Given the description of an element on the screen output the (x, y) to click on. 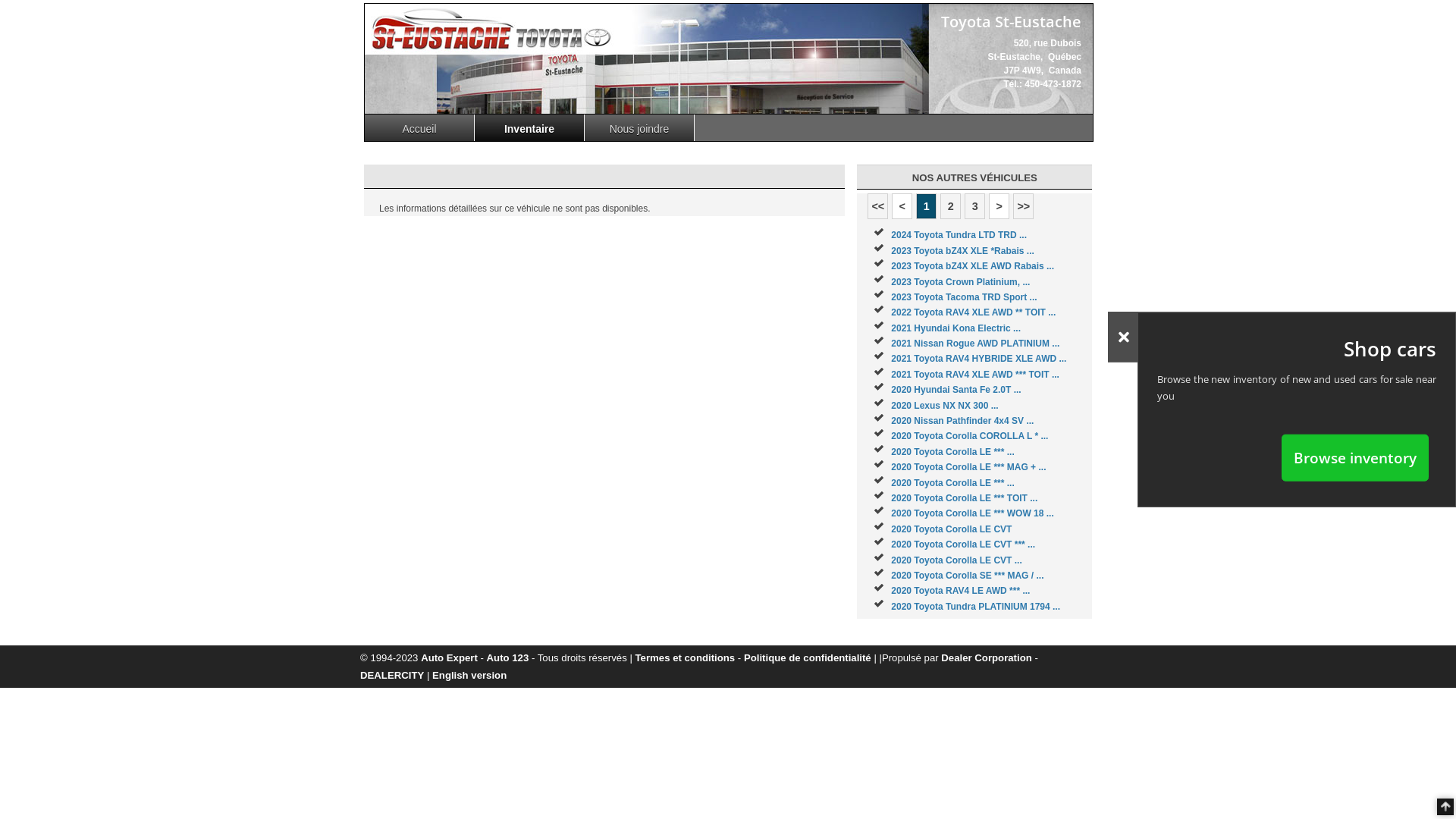
DEALERCITY Element type: text (391, 674)
2020 Hyundai Santa Fe 2.0T ... Element type: text (955, 389)
Auto 123 Element type: text (507, 657)
2 Element type: text (950, 206)
2020 Toyota Corolla LE *** ... Element type: text (952, 482)
2020 Toyota Corolla LE *** TOIT ... Element type: text (964, 497)
Inventaire Element type: text (529, 127)
2022 Toyota RAV4 XLE AWD ** TOIT ... Element type: text (973, 312)
2020 Toyota Corolla LE CVT ... Element type: text (956, 560)
Nous joindre Element type: text (639, 127)
Termes et conditions Element type: text (685, 657)
2020 Toyota Corolla LE *** MAG + ... Element type: text (968, 466)
2020 Toyota RAV4 LE AWD *** ... Element type: text (960, 590)
2024 Toyota Tundra LTD TRD ... Element type: text (958, 234)
Browse inventory Element type: text (1354, 457)
2020 Toyota Corolla LE *** ... Element type: text (952, 451)
3 Element type: text (974, 206)
2020 Toyota Corolla LE CVT *** ... Element type: text (963, 544)
2023 Toyota Crown Platinium, ... Element type: text (960, 281)
> Element type: text (998, 206)
2023 Toyota Tacoma TRD Sport ... Element type: text (963, 296)
Accueil Element type: text (419, 127)
Dealer Corporation Element type: text (986, 657)
2023 Toyota bZ4X XLE AWD Rabais ... Element type: text (972, 265)
2020 Toyota Tundra PLATINIUM 1794 ... Element type: text (975, 606)
2021 Toyota RAV4 XLE AWD *** TOIT ... Element type: text (975, 374)
2020 Lexus NX NX 300 ... Element type: text (944, 405)
< Element type: text (901, 206)
2020 Nissan Pathfinder 4x4 SV ... Element type: text (962, 420)
2020 Toyota Corolla COROLLA L * ... Element type: text (969, 435)
>> Element type: text (1023, 206)
2021 Nissan Rogue AWD PLATINIUM ... Element type: text (975, 343)
2021 Hyundai Kona Electric ... Element type: text (955, 328)
2020 Toyota Corolla SE *** MAG / ... Element type: text (967, 575)
English version Element type: text (469, 674)
2023 Toyota bZ4X XLE *Rabais ... Element type: text (962, 250)
Auto Expert Element type: text (448, 657)
2021 Toyota RAV4 HYBRIDE XLE AWD ... Element type: text (978, 358)
<< Element type: text (877, 206)
2020 Toyota Corolla LE *** WOW 18 ... Element type: text (972, 513)
1 Element type: text (926, 206)
2020 Toyota Corolla LE CVT Element type: text (951, 529)
